Given the description of an element on the screen output the (x, y) to click on. 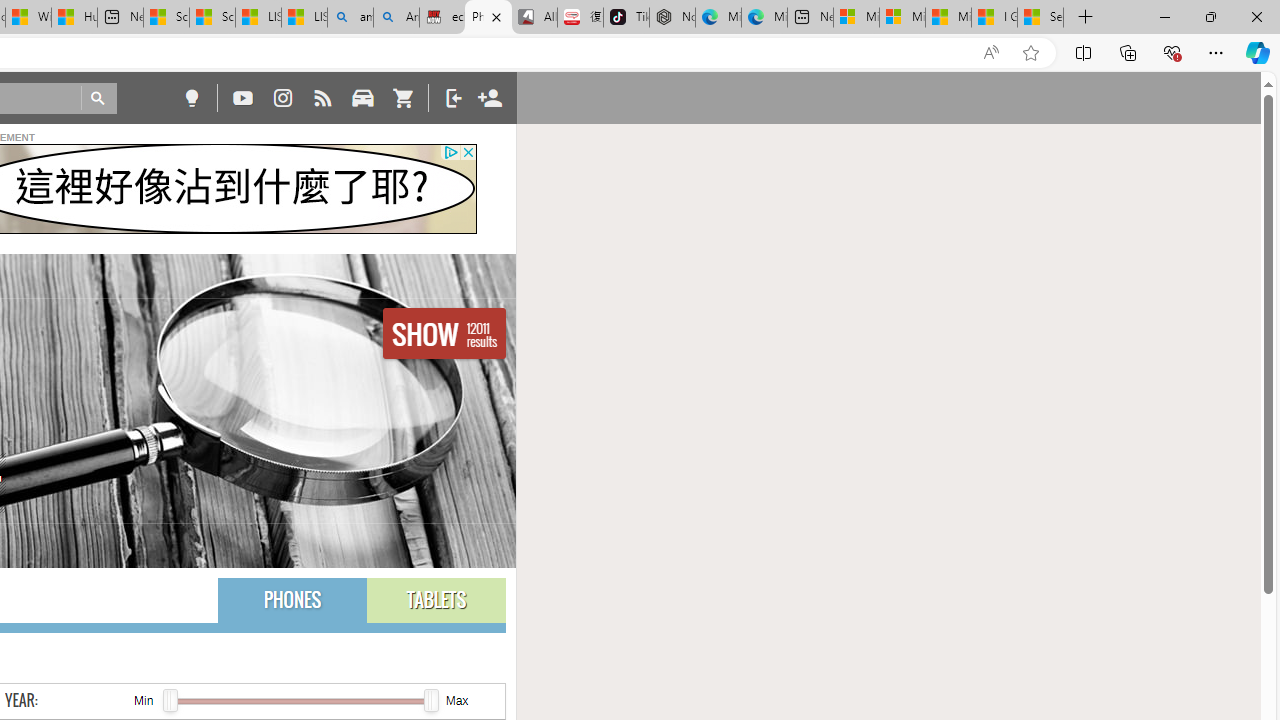
Phone Finder - search for a phone by feature - GSMArena.com (487, 17)
TABLETS (436, 600)
TABLETS (436, 600)
I Gained 20 Pounds of Muscle in 30 Days! | Watch (994, 17)
PHONES (292, 600)
AutomationID: close_button_svg (468, 151)
